Given the description of an element on the screen output the (x, y) to click on. 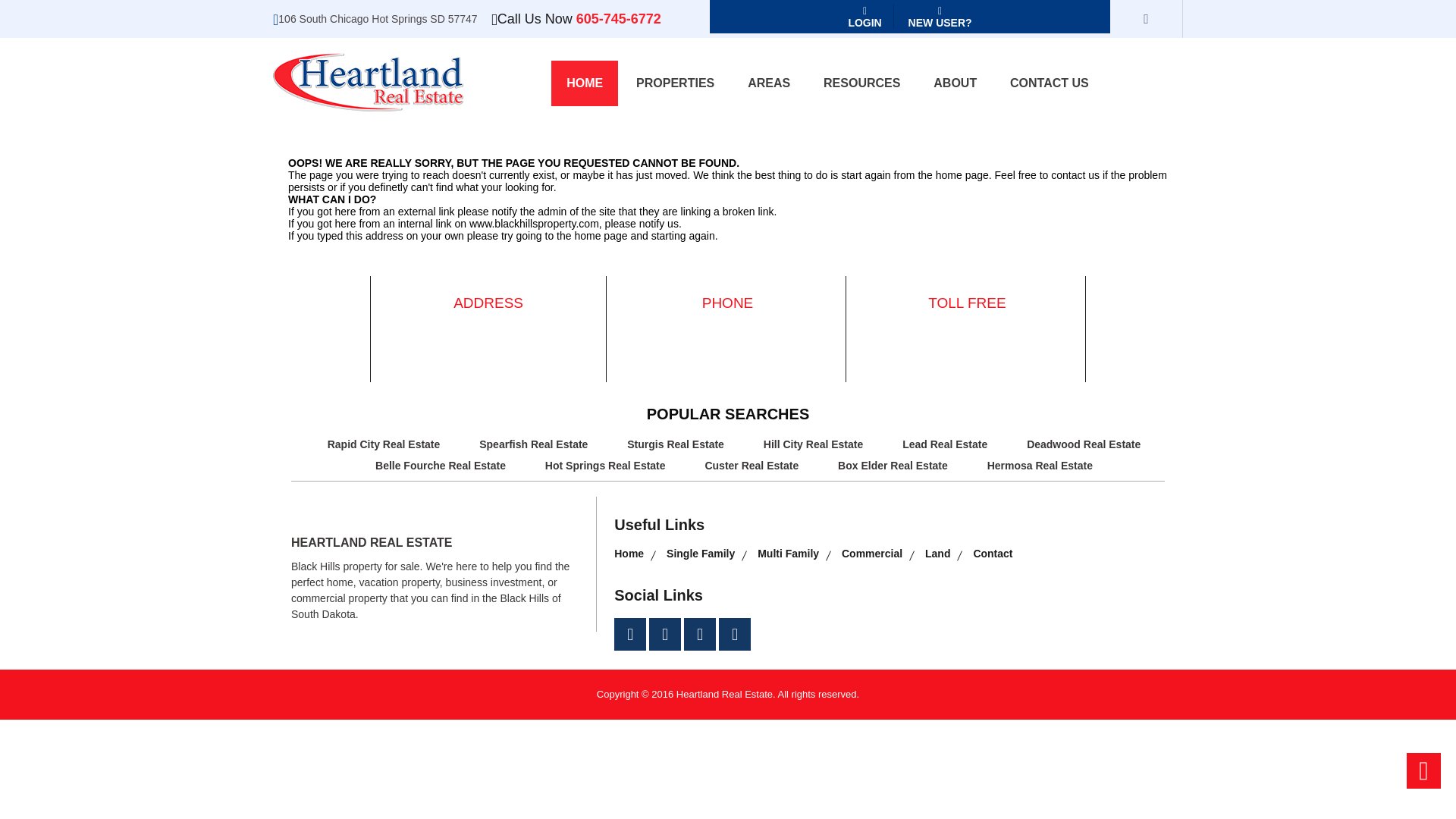
LOGIN (864, 16)
AREAS (768, 83)
Heartland Real Estate (368, 82)
HOME (584, 83)
NEW USER? (940, 16)
PROPERTIES (675, 83)
